Given the description of an element on the screen output the (x, y) to click on. 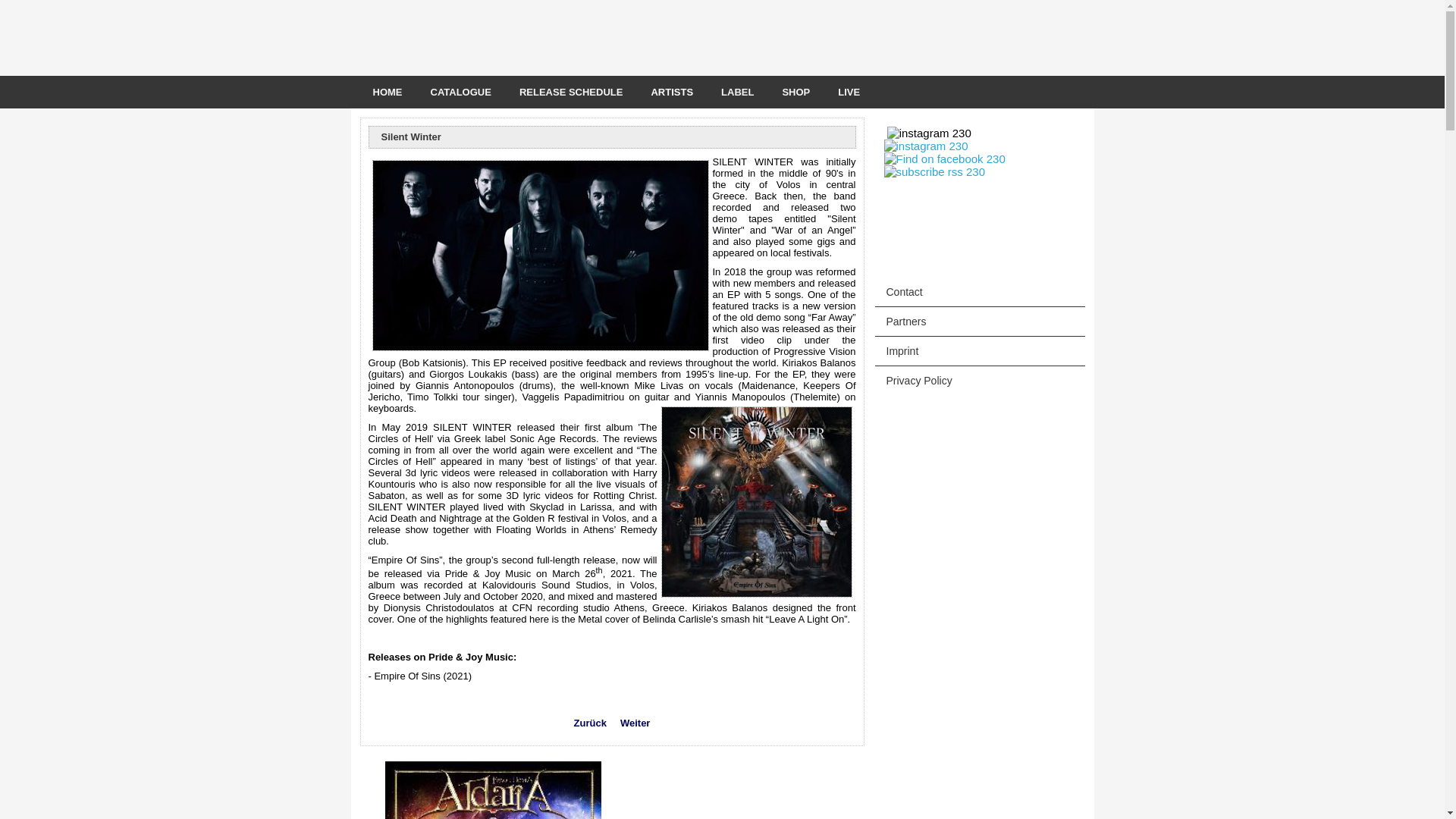
HOME (387, 92)
SHOP (796, 92)
RELEASE SCHEDULE (570, 92)
ARTISTS (671, 92)
CATALOGUE (461, 92)
LABEL (737, 92)
Weiter (635, 722)
Aldaria (493, 790)
LIVE (848, 92)
